Given the description of an element on the screen output the (x, y) to click on. 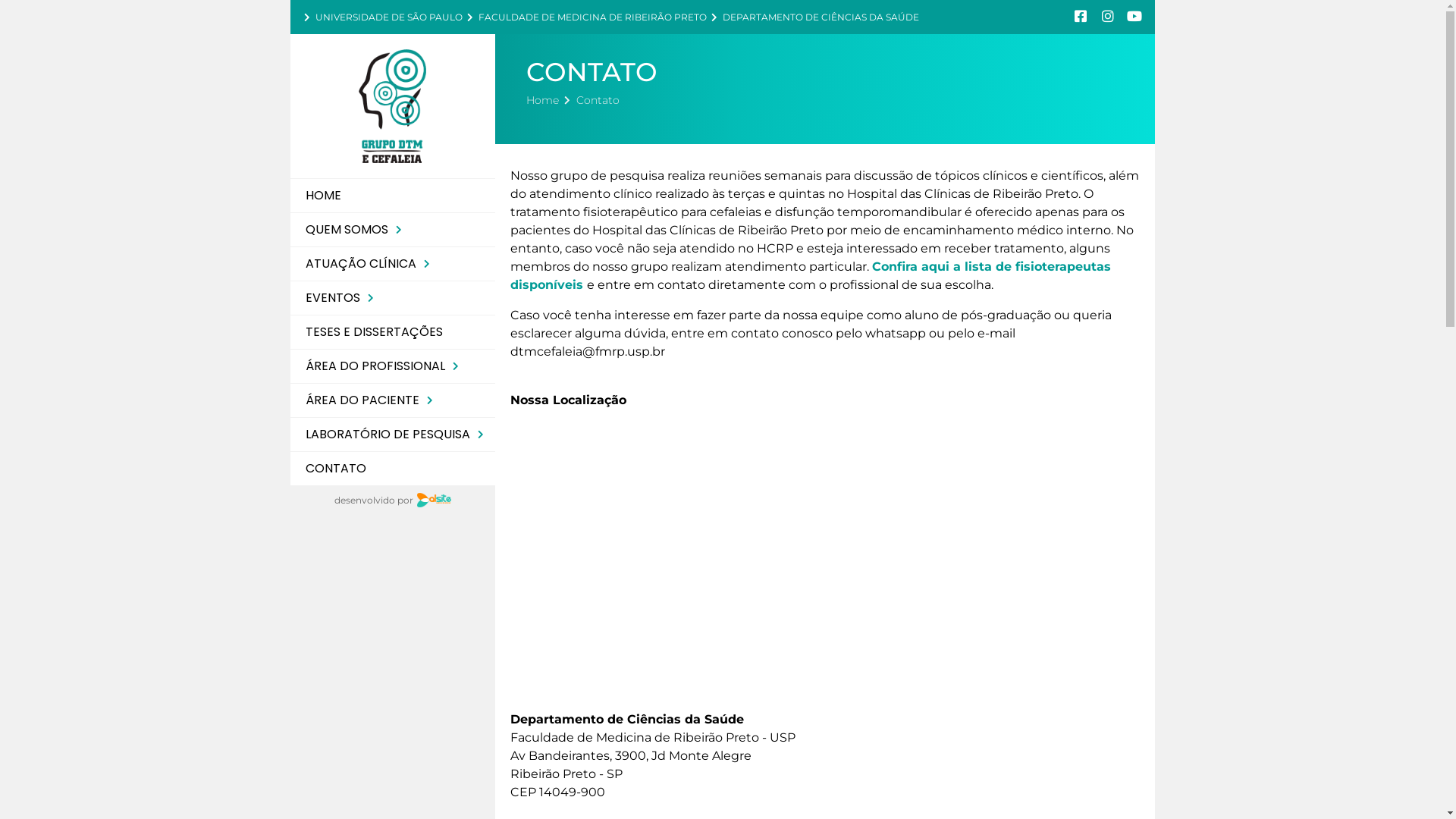
HOME Element type: text (391, 195)
QUEM SOMOS Element type: text (391, 229)
Home Element type: text (542, 99)
CONTATO Element type: text (391, 468)
EVENTOS Element type: text (391, 297)
